Given the description of an element on the screen output the (x, y) to click on. 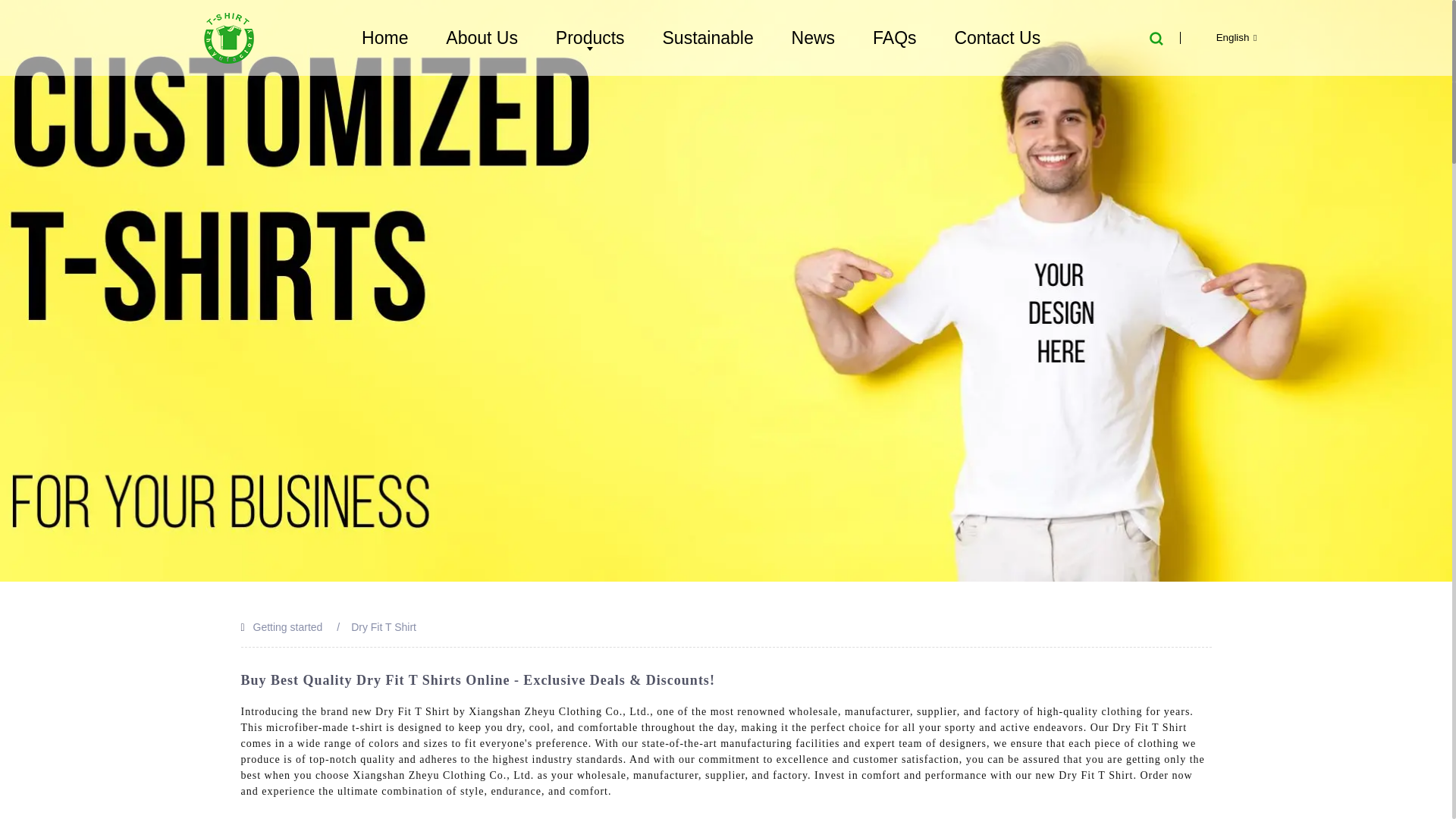
Dry Fit T Shirt (383, 626)
Contact Us (996, 37)
FAQs (894, 37)
Getting started (288, 626)
Home (384, 37)
Products (590, 37)
News (813, 37)
About Us (481, 37)
Sustainable (707, 37)
English (1224, 37)
